Given the description of an element on the screen output the (x, y) to click on. 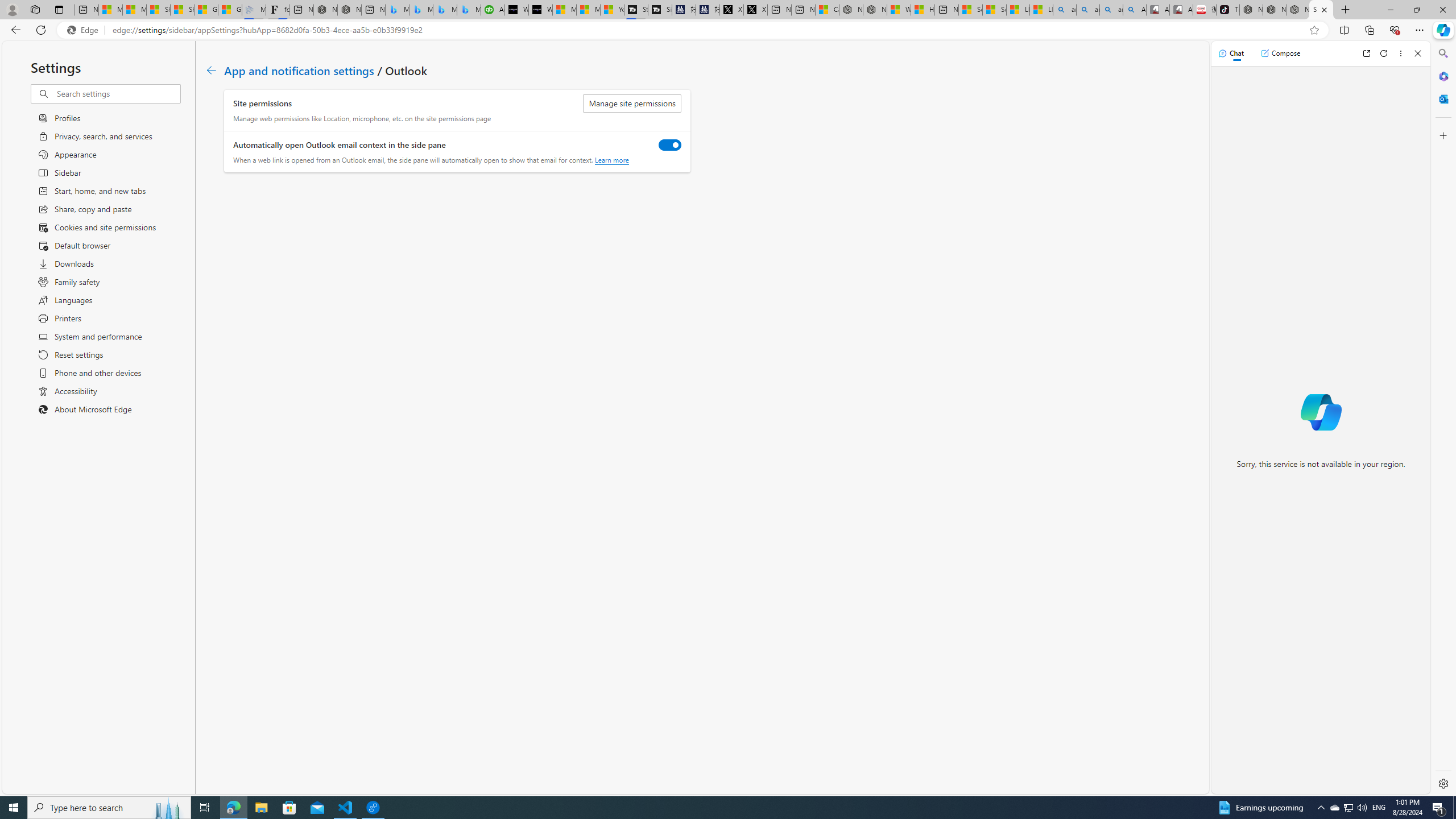
Automatically open Outlook email context in the side pane (669, 144)
Side bar (1443, 418)
Customize (1442, 135)
amazon - Search Images (1111, 9)
